Given the description of an element on the screen output the (x, y) to click on. 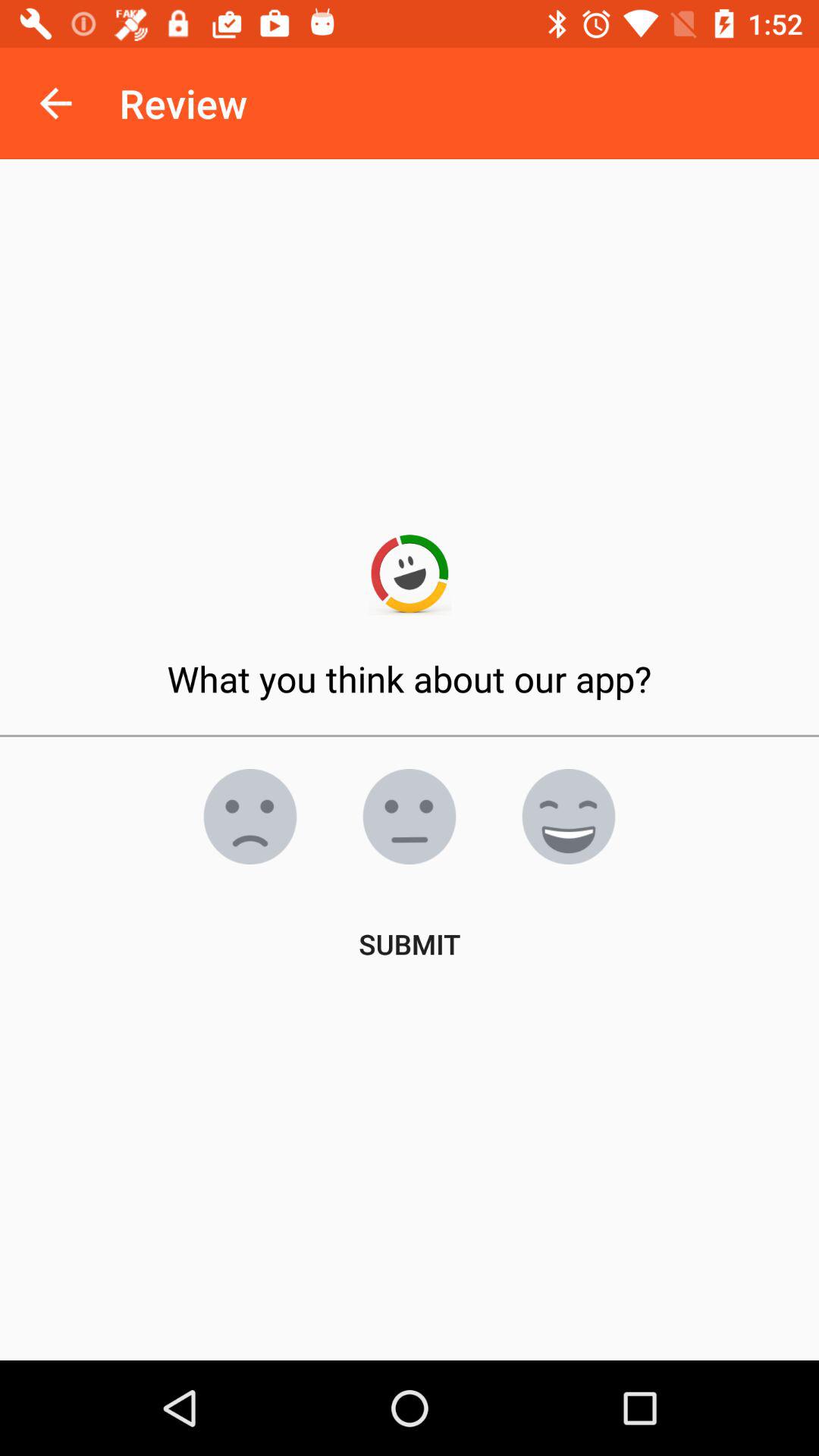
open the app next to review icon (55, 103)
